Given the description of an element on the screen output the (x, y) to click on. 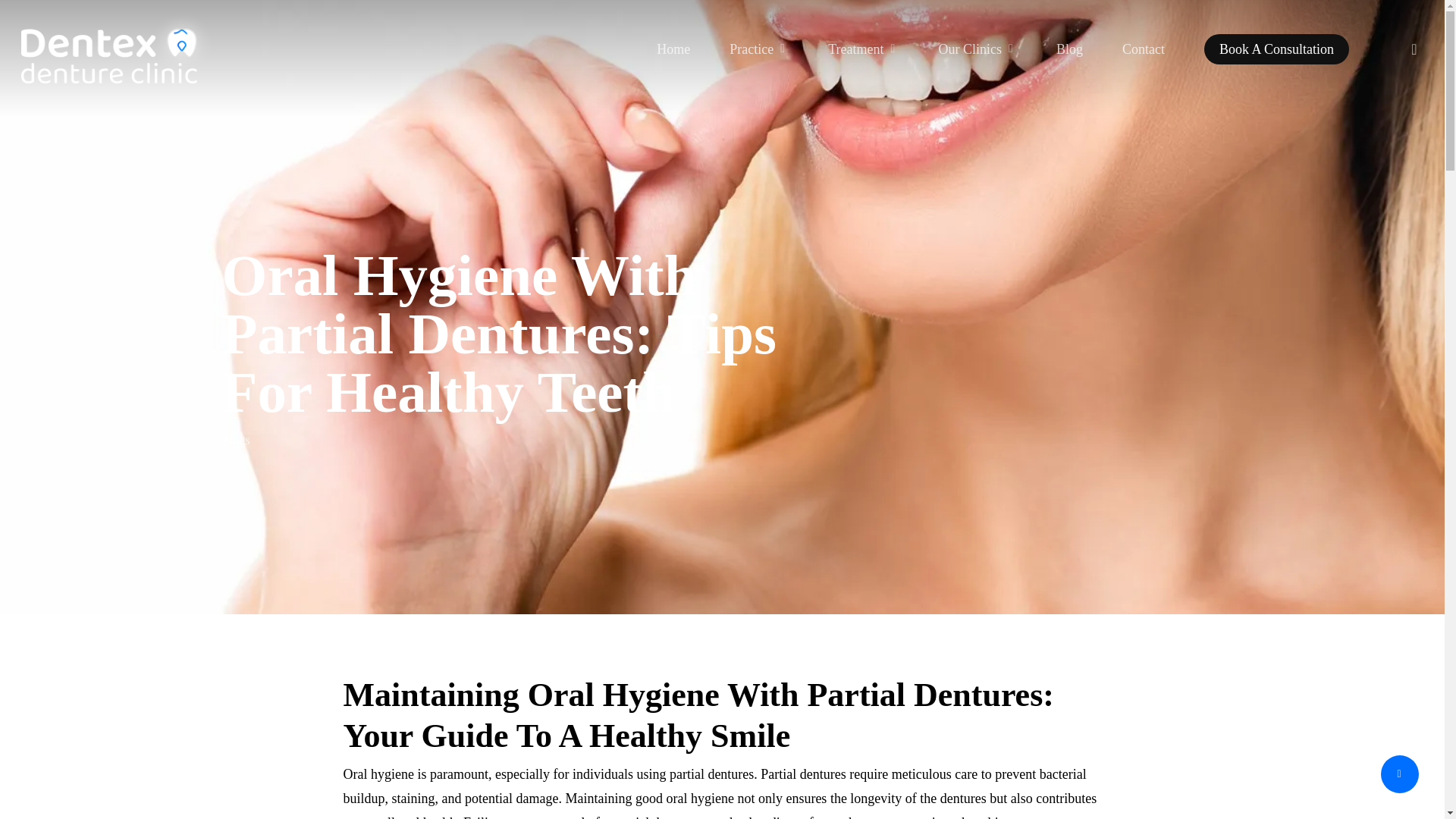
Contact (1143, 49)
Book A Consultation (1276, 49)
Our Clinics (976, 49)
search (1414, 48)
Blogs (234, 445)
Home (673, 49)
Practice (759, 49)
Treatment (863, 49)
Blog (1070, 49)
